Given the description of an element on the screen output the (x, y) to click on. 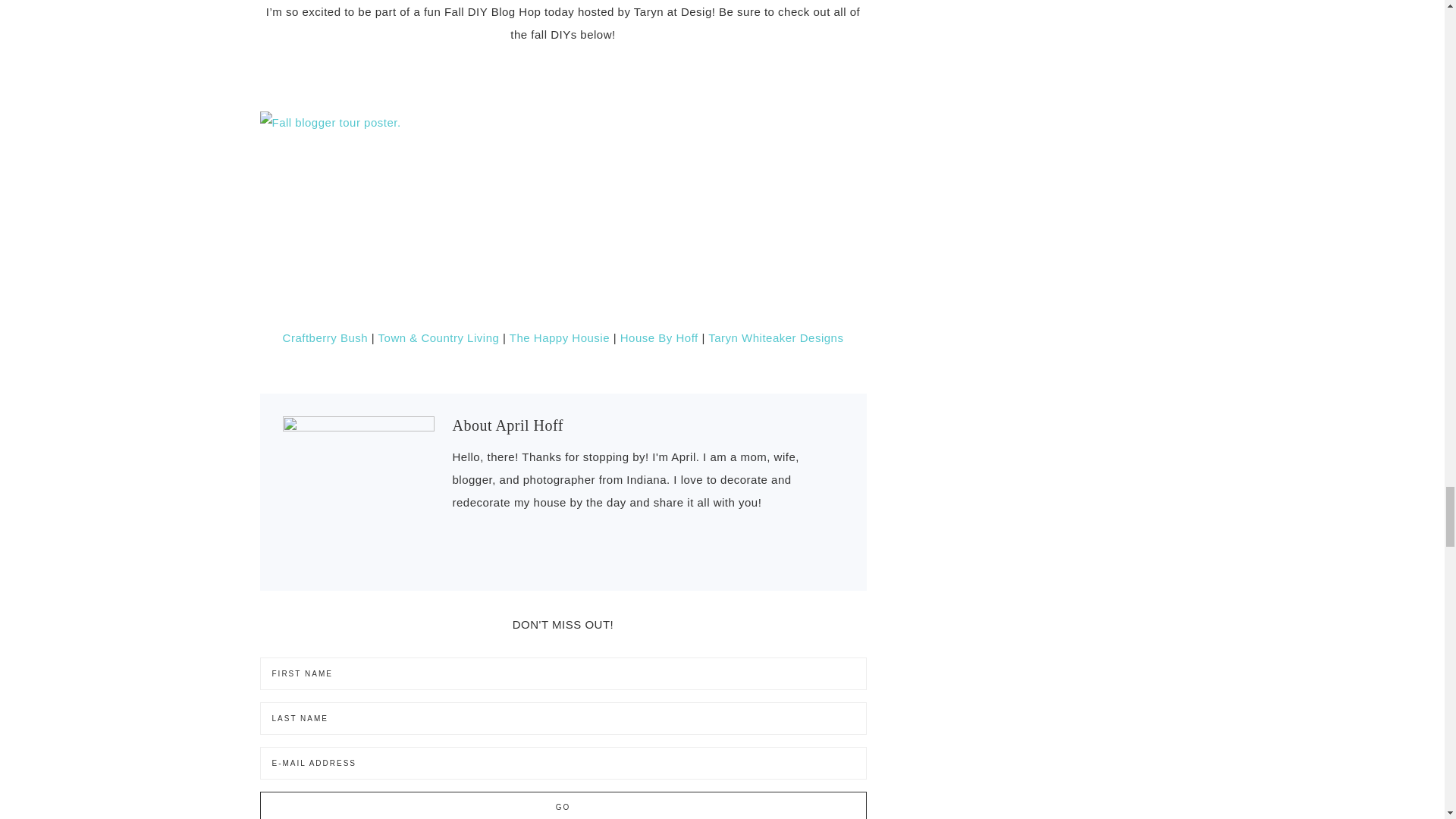
House By Hoff (659, 337)
Go (562, 805)
The Happy Housie (557, 337)
Craftberry Bush (325, 337)
Taryn Whiteaker Designs (775, 337)
Go (562, 805)
